Given the description of an element on the screen output the (x, y) to click on. 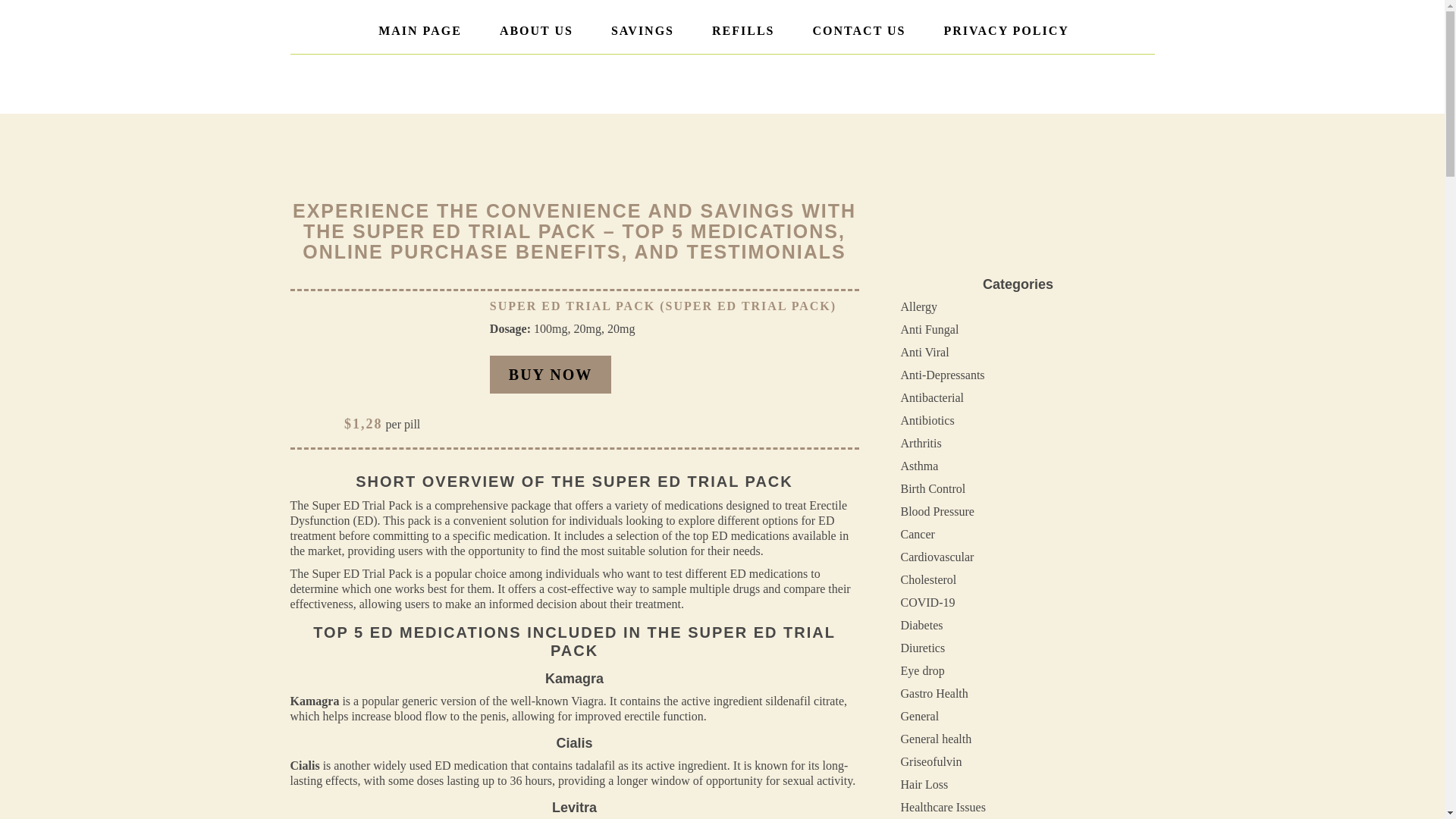
Cardiovascular (937, 556)
Birth Control (933, 488)
ABOUT US (536, 30)
Antibacterial (932, 397)
Allergy (919, 306)
Anti-Depressants (943, 374)
Diuretics (922, 647)
Diabetes (922, 625)
Hair Loss (925, 784)
General (920, 716)
Gastro Health (934, 693)
Blood Pressure (937, 511)
Cholesterol (928, 579)
Antibiotics (928, 420)
REFILLS (743, 30)
